Given the description of an element on the screen output the (x, y) to click on. 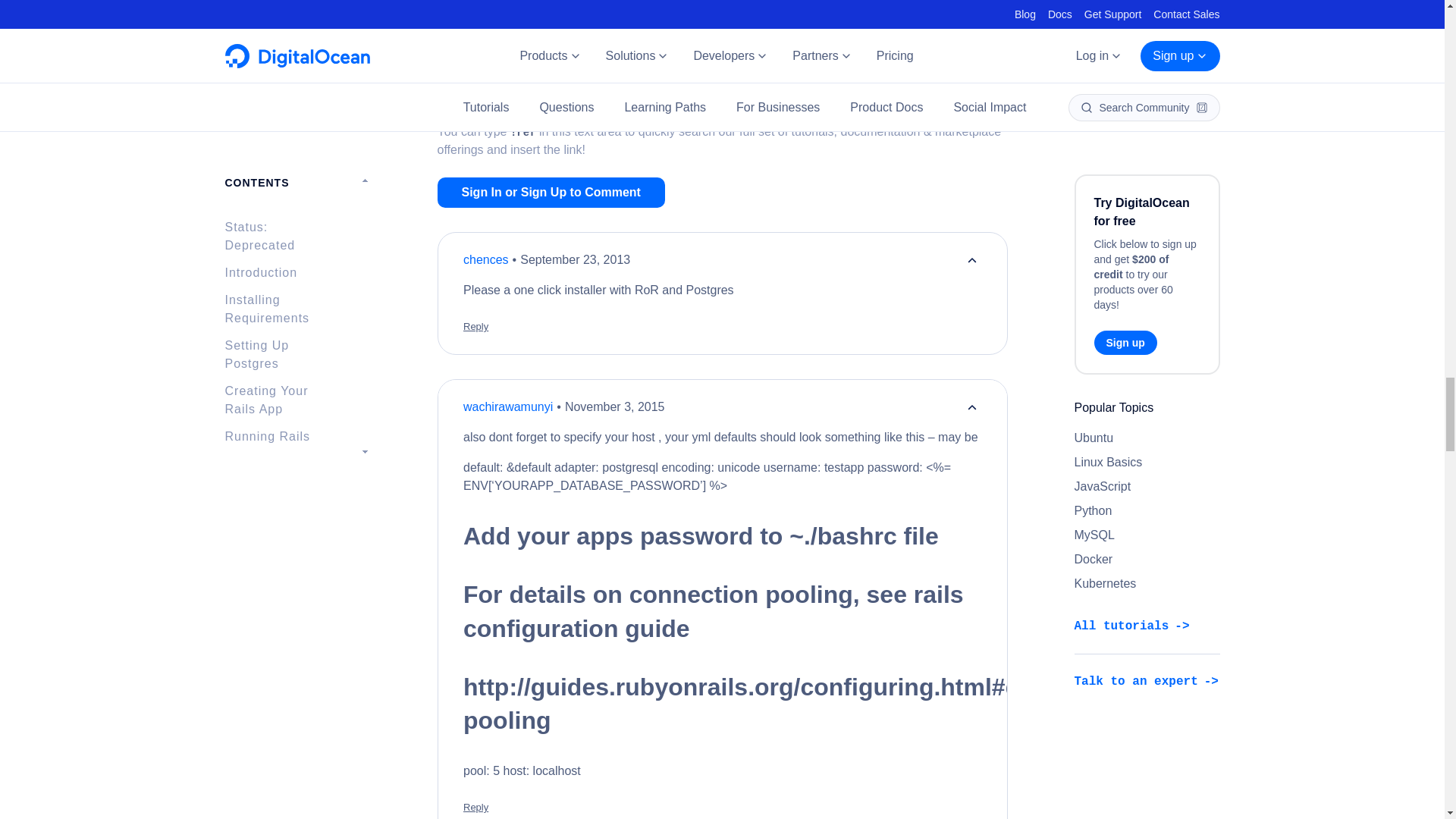
Image (568, 12)
Bold (458, 12)
Underline (503, 12)
Heading 3 (656, 12)
Heading 1 (612, 12)
Italic (480, 12)
Unordered list (678, 12)
Link (547, 12)
Heading 2 (635, 12)
Strikethrough (524, 12)
